Given the description of an element on the screen output the (x, y) to click on. 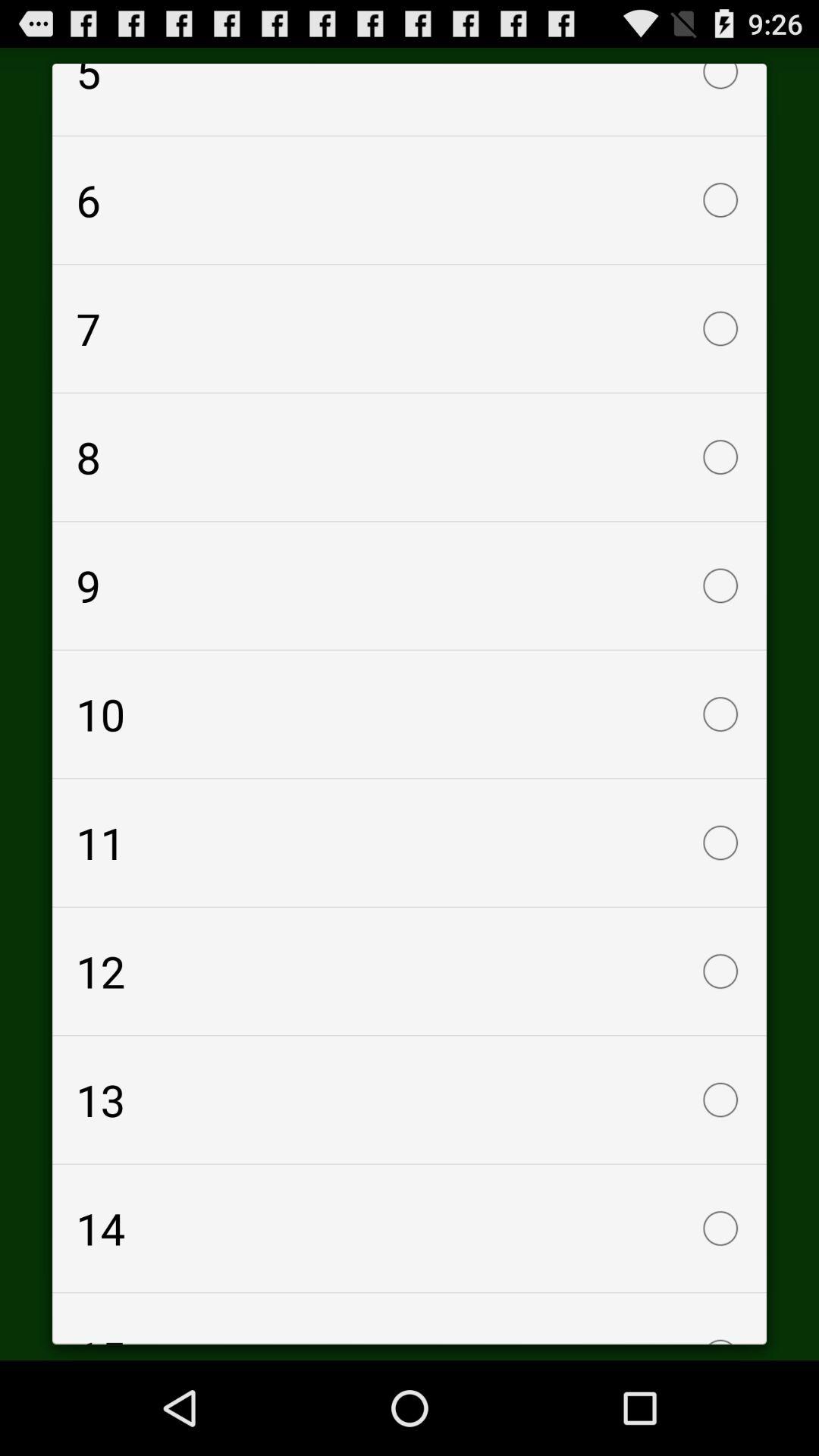
press checkbox above 13 item (409, 971)
